Given the description of an element on the screen output the (x, y) to click on. 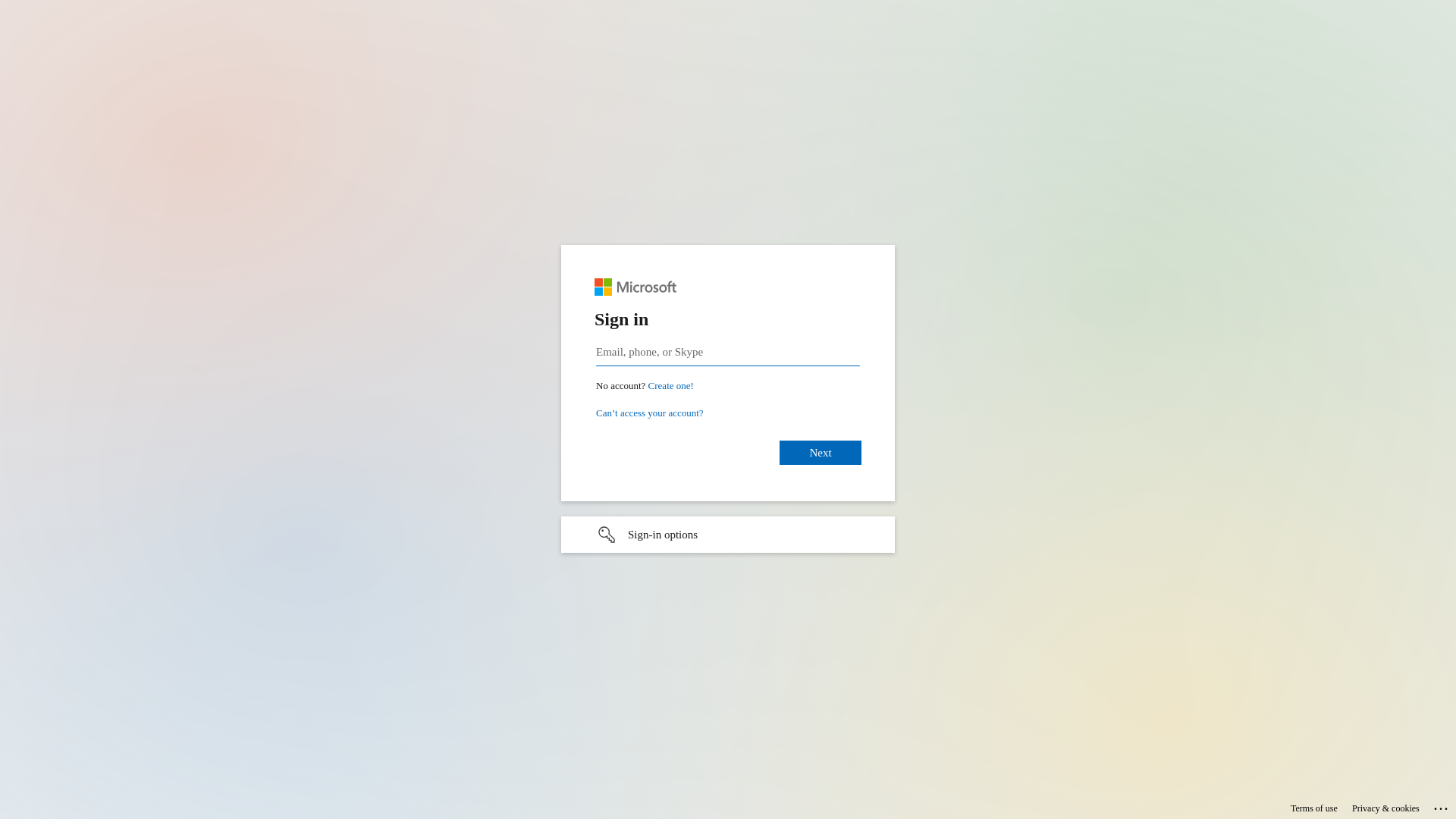
... Element type: text (1441, 805)
Next Element type: text (820, 452)
Create one! Element type: text (670, 385)
